Given the description of an element on the screen output the (x, y) to click on. 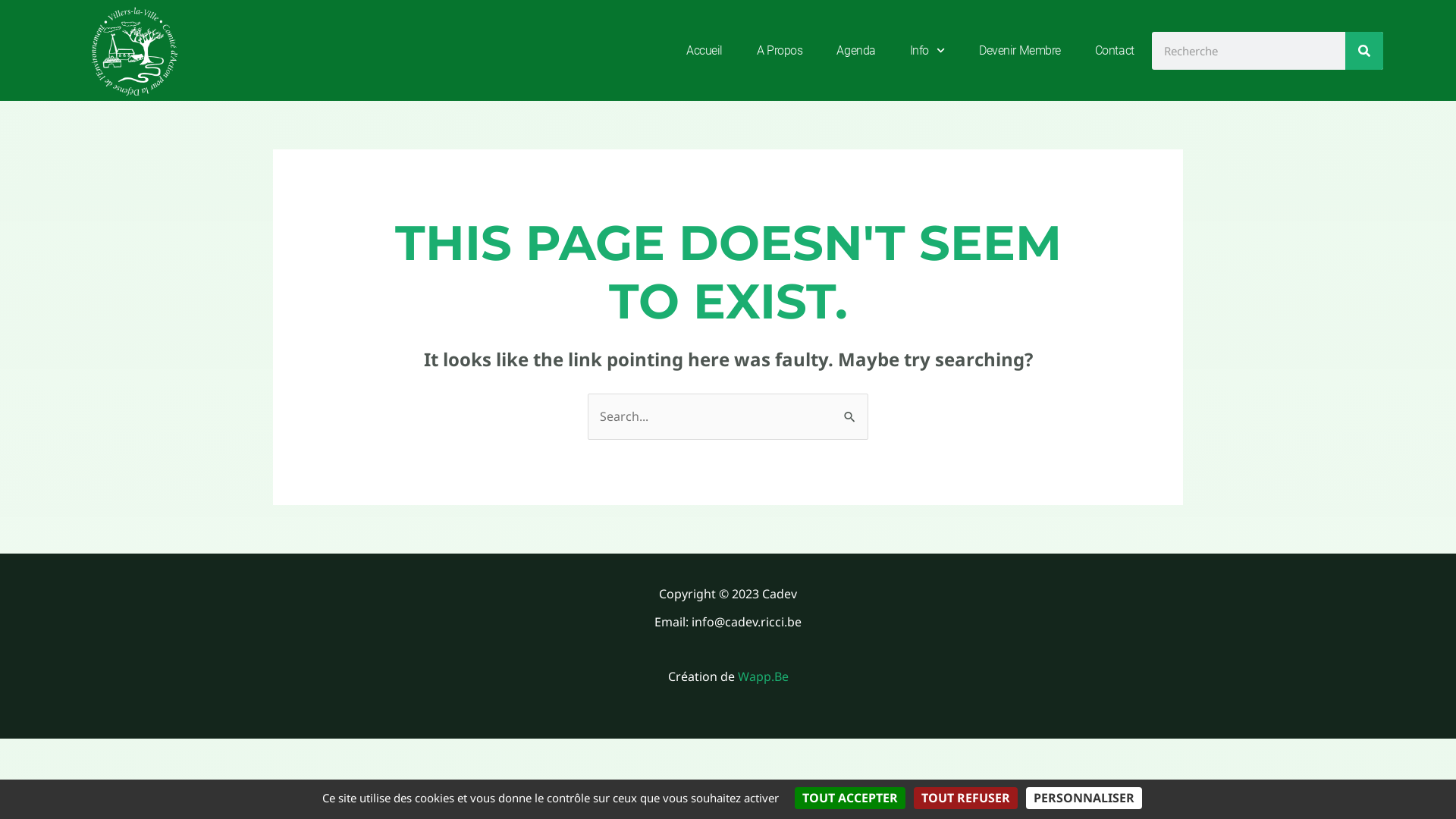
Accueil Element type: text (704, 49)
Devenir Membre Element type: text (1019, 49)
TOUT REFUSER Element type: text (964, 798)
Info Element type: text (927, 49)
Contact Element type: text (1114, 49)
SEARCH Element type: text (1364, 50)
Search Element type: text (851, 408)
PERSONNALISER Element type: text (1083, 798)
Wapp.Be Element type: text (762, 676)
Agenda Element type: text (855, 49)
TOUT ACCEPTER Element type: text (849, 798)
A Propos Element type: text (779, 49)
